Given the description of an element on the screen output the (x, y) to click on. 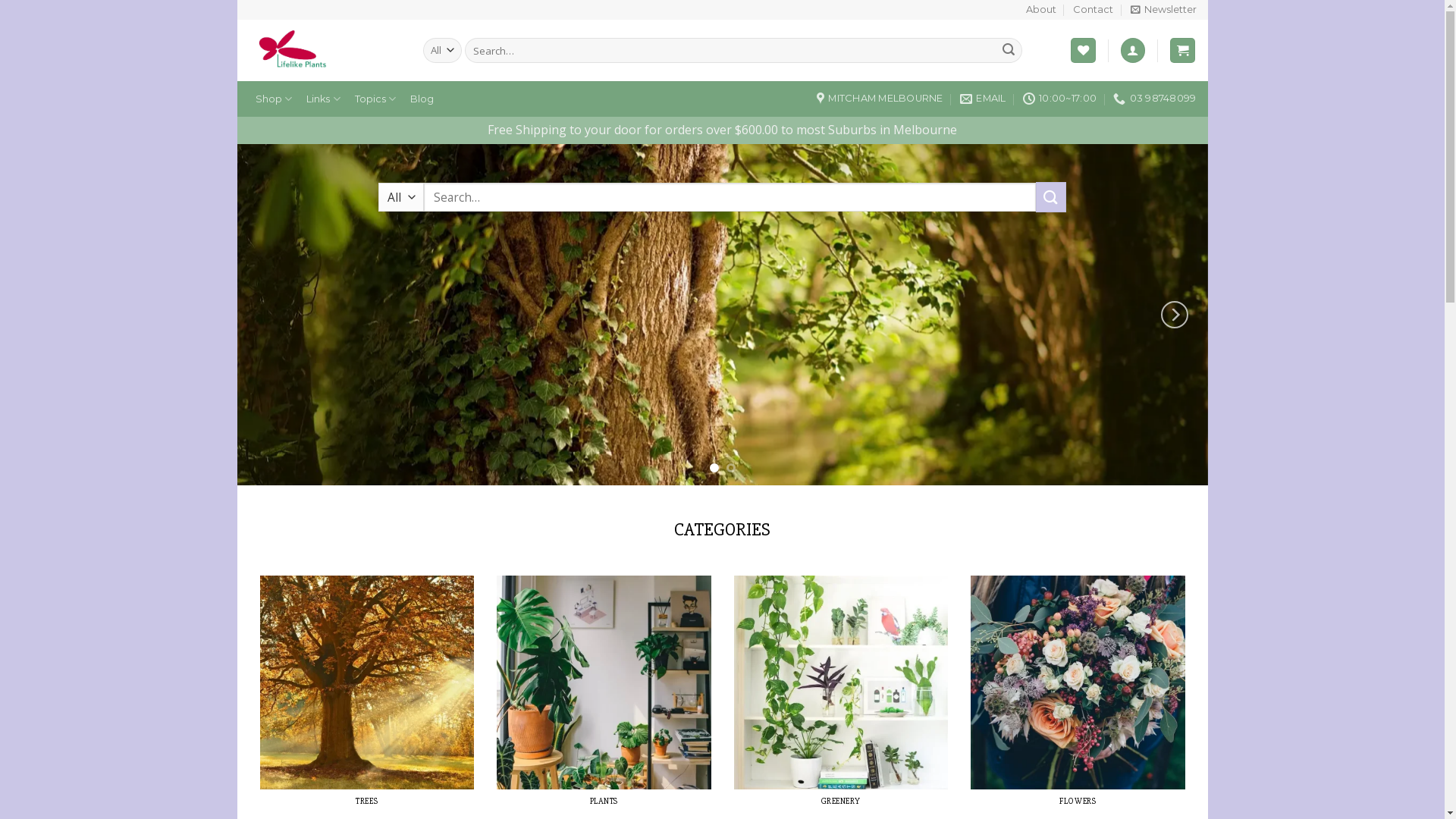
Cart Element type: hover (1182, 49)
Topics Element type: text (374, 98)
10:00~17:00 Element type: text (1059, 98)
03 98748099 Element type: text (1154, 98)
Contact Element type: text (1093, 9)
Newsletter Element type: text (1162, 9)
Links Element type: text (323, 98)
About Element type: text (1041, 9)
Blog Element type: text (422, 98)
Search Element type: text (1008, 50)
Shop Element type: text (273, 98)
Search Element type: text (1050, 196)
EMAIL Element type: text (983, 98)
MITCHAM MELBOURNE Element type: text (879, 98)
